Given the description of an element on the screen output the (x, y) to click on. 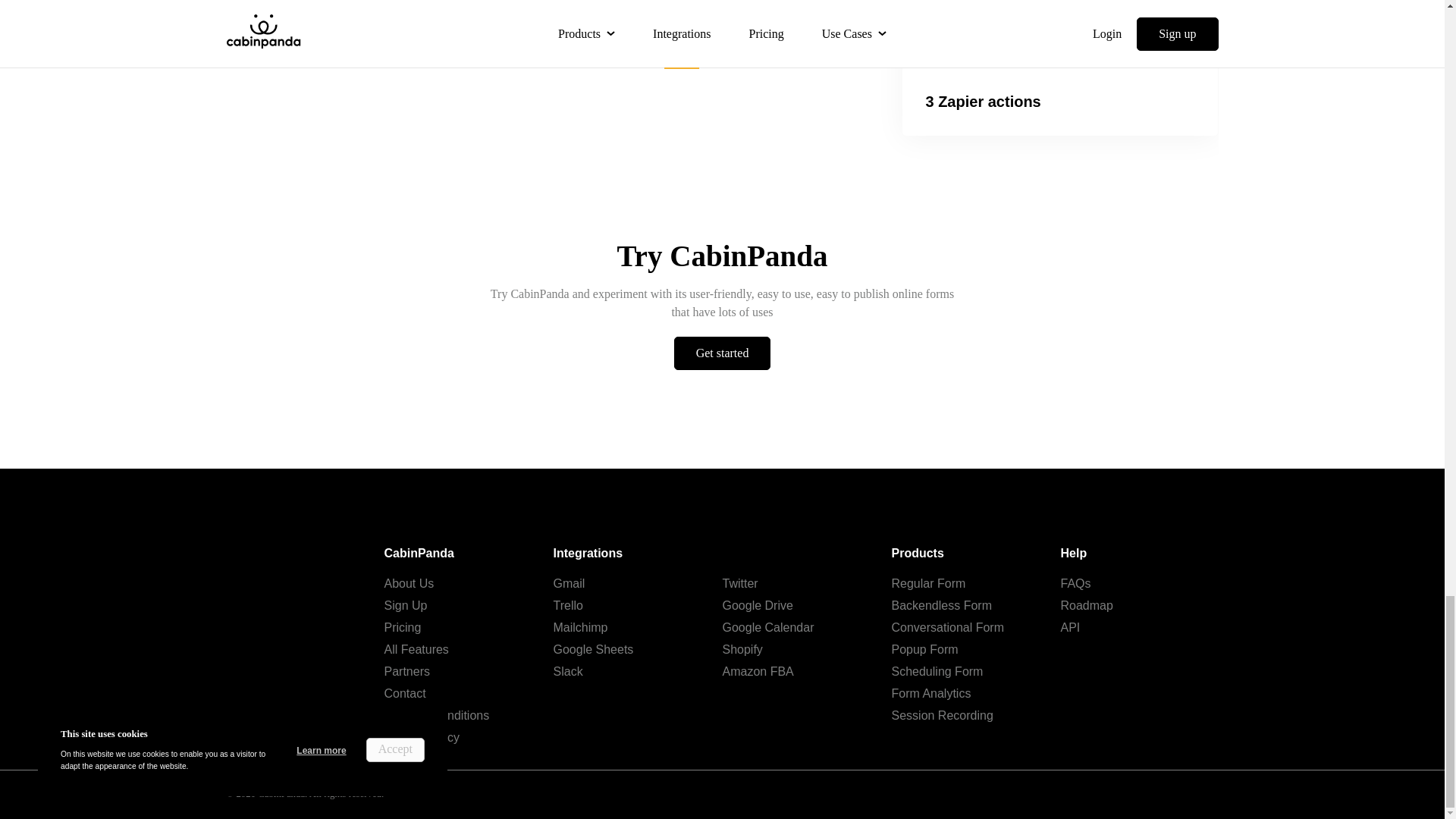
Get started (722, 353)
Privacy Policy (422, 737)
About Us (408, 583)
Contact (404, 693)
Trello (568, 604)
Partners (406, 671)
Sign Up (405, 604)
Google Sheets (593, 649)
Gmail (569, 583)
All Features (416, 649)
Mailchimp (580, 626)
Slack (568, 671)
Pricing (402, 626)
